Given the description of an element on the screen output the (x, y) to click on. 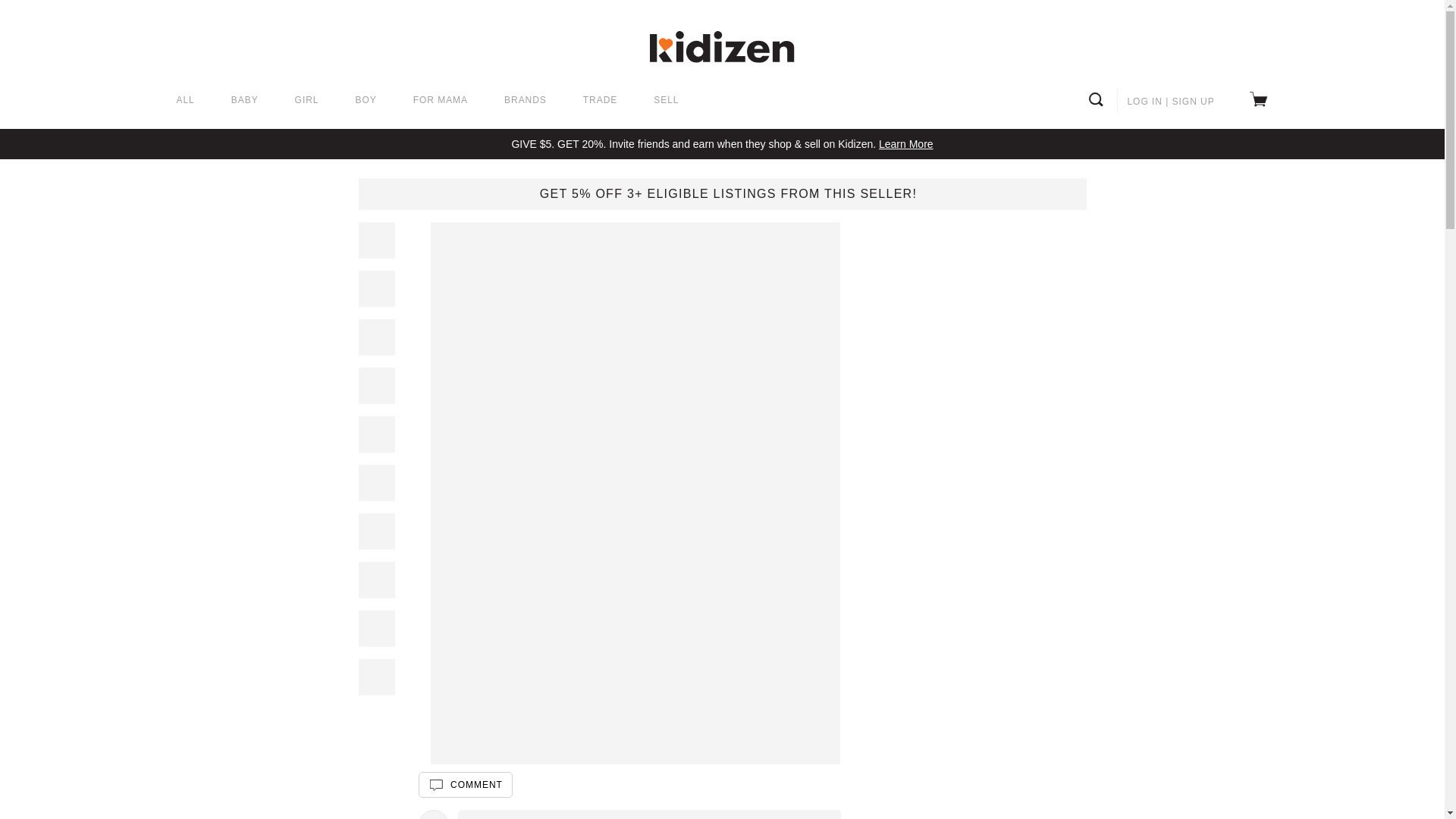
ALL (184, 100)
COMMENT (465, 784)
LOG IN (1143, 101)
SELL (665, 100)
BRANDS (525, 100)
BOY (365, 100)
FOR MAMA (440, 100)
BABY (245, 100)
GIRL (306, 100)
TRADE (600, 100)
SIGN UP (1193, 101)
